Given the description of an element on the screen output the (x, y) to click on. 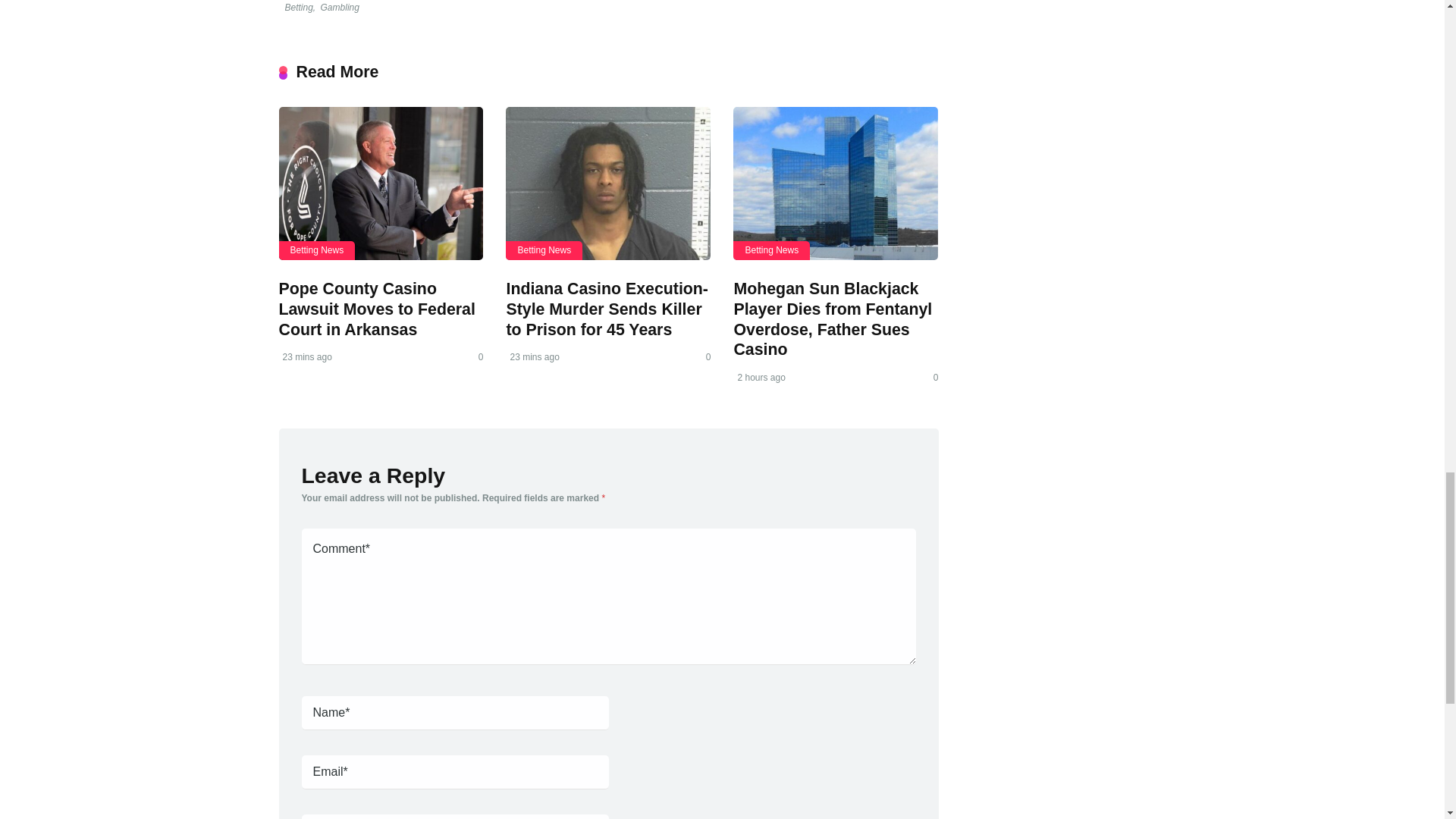
Betting News (771, 250)
Betting (297, 7)
Betting News (543, 250)
Betting News (317, 250)
Gambling (338, 7)
